Given the description of an element on the screen output the (x, y) to click on. 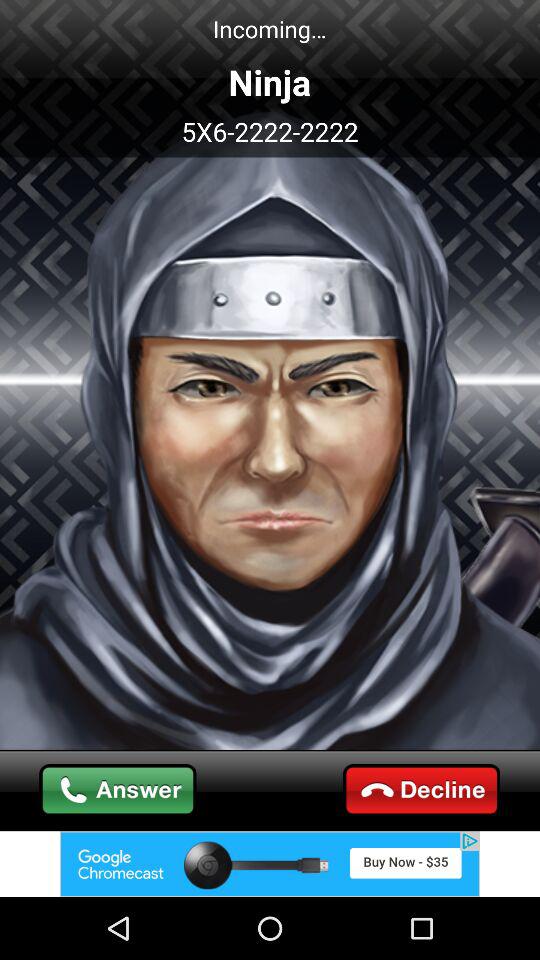
answer (117, 790)
